Given the description of an element on the screen output the (x, y) to click on. 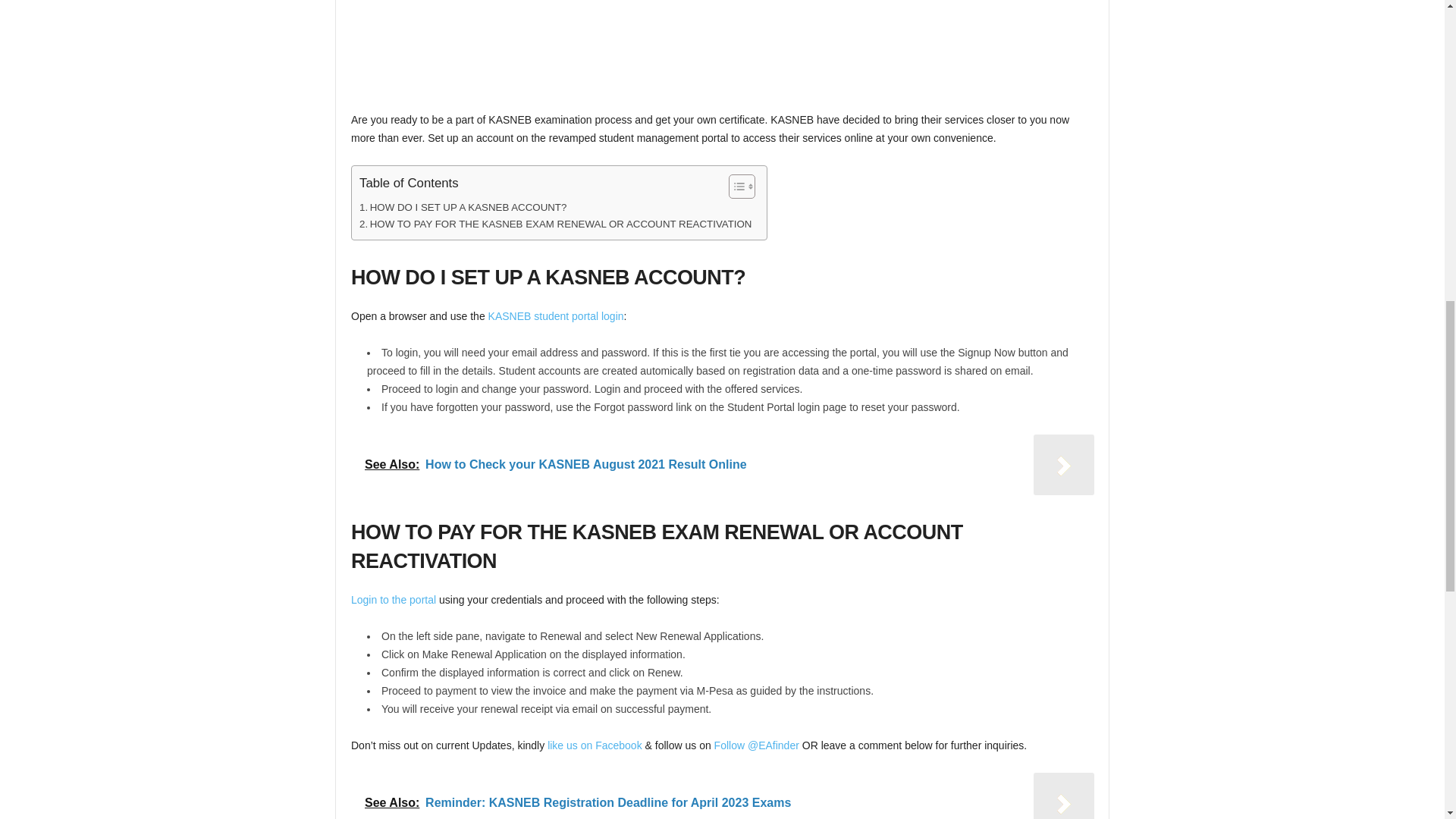
Login to the portal (392, 599)
like us on Facebook (594, 745)
HOW DO I SET UP A KASNEB ACCOUNT? (462, 207)
KASNEB student portal login (555, 316)
HOW DO I SET UP A KASNEB ACCOUNT? (462, 207)
